Given the description of an element on the screen output the (x, y) to click on. 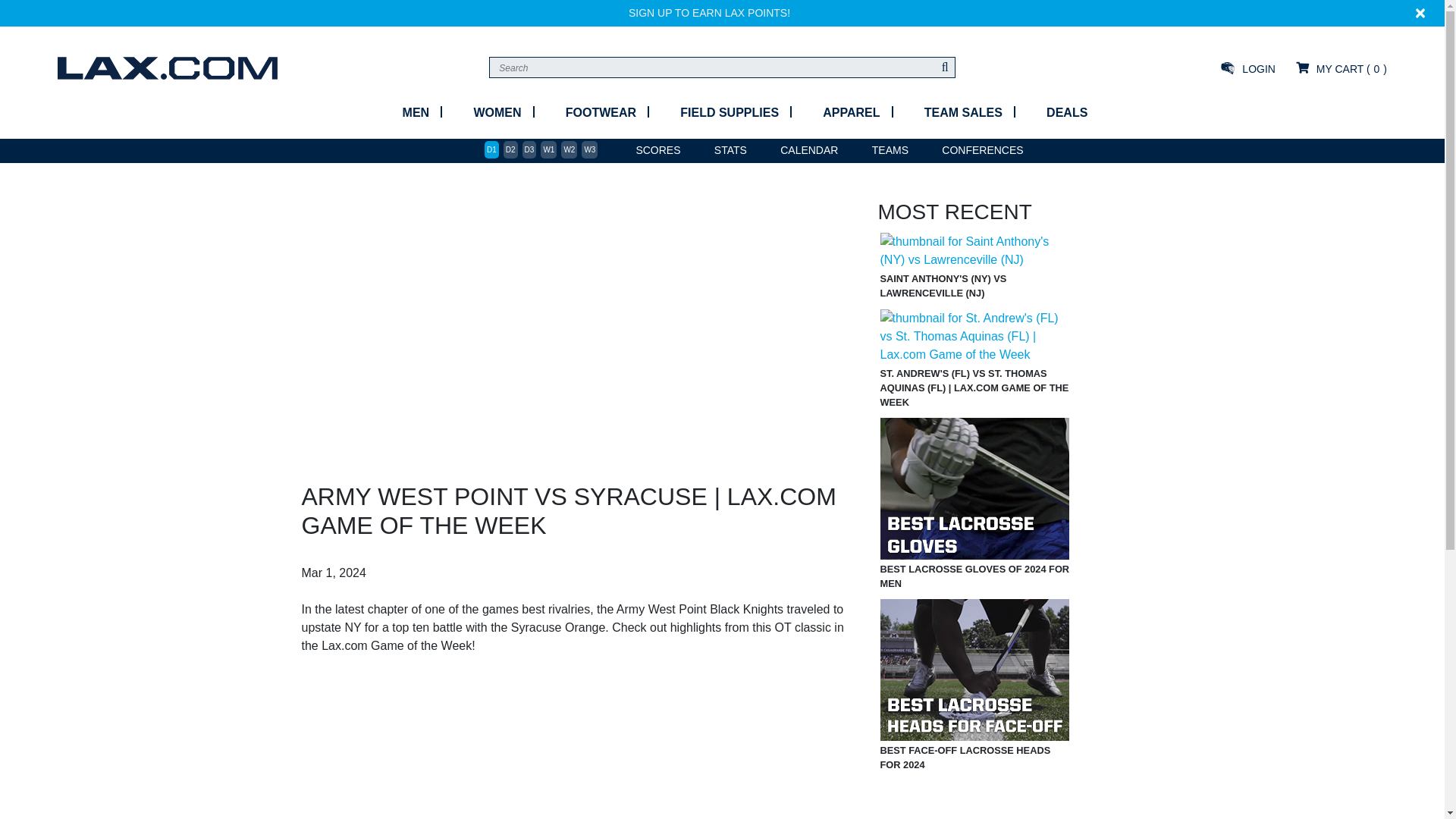
View Cart (1339, 68)
LOGIN (1248, 68)
MEN (414, 112)
SIGN UP TO EARN LAX POINTS! (709, 12)
